Given the description of an element on the screen output the (x, y) to click on. 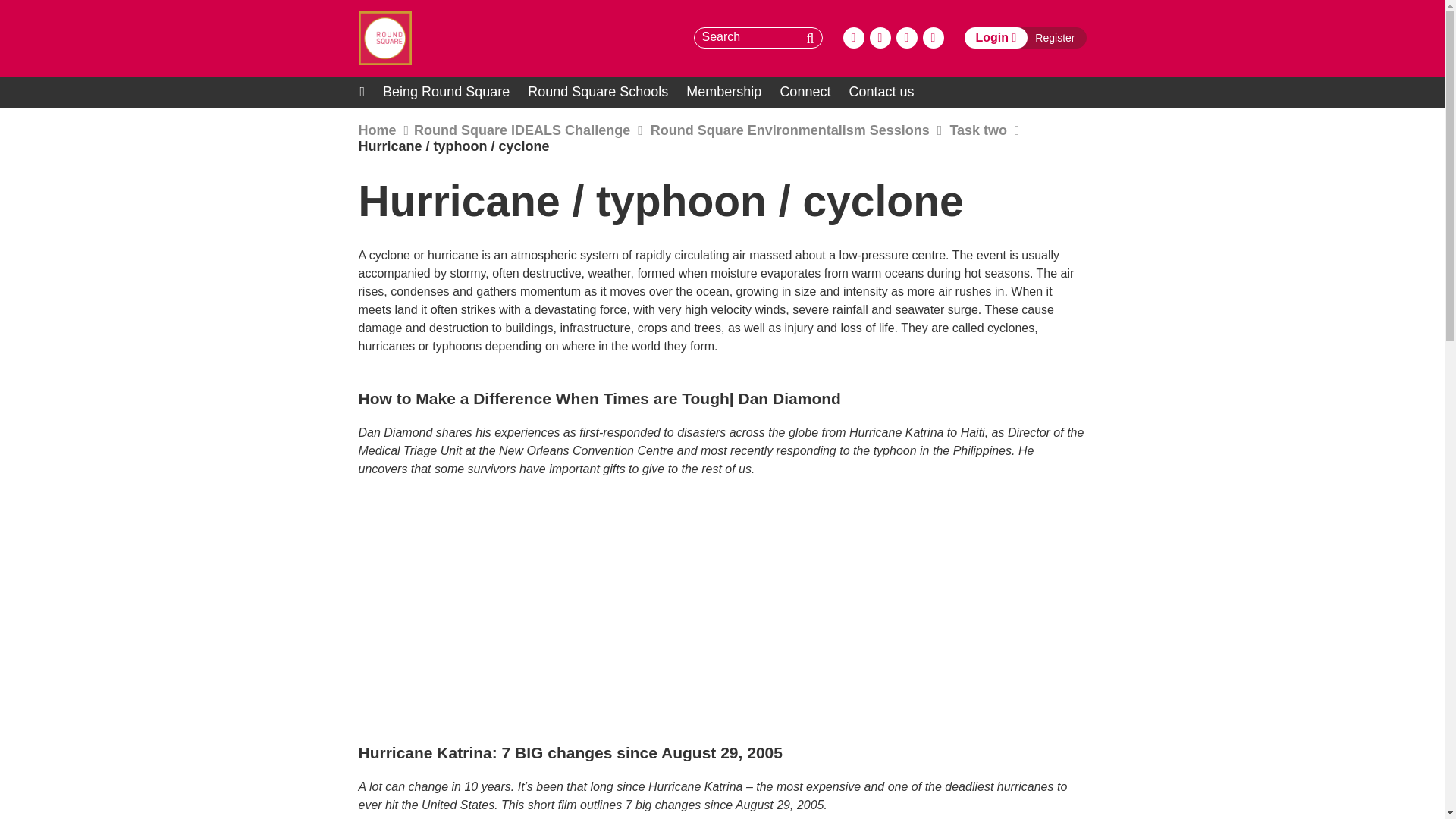
Register (1056, 37)
Twitter - opens in a new window. (880, 37)
Being Round Square (446, 92)
Login (995, 37)
Instagram - opens in a new window. (906, 37)
Facebook - opens in a new window. (853, 37)
YouTube - opens in a new window. (933, 37)
